Given the description of an element on the screen output the (x, y) to click on. 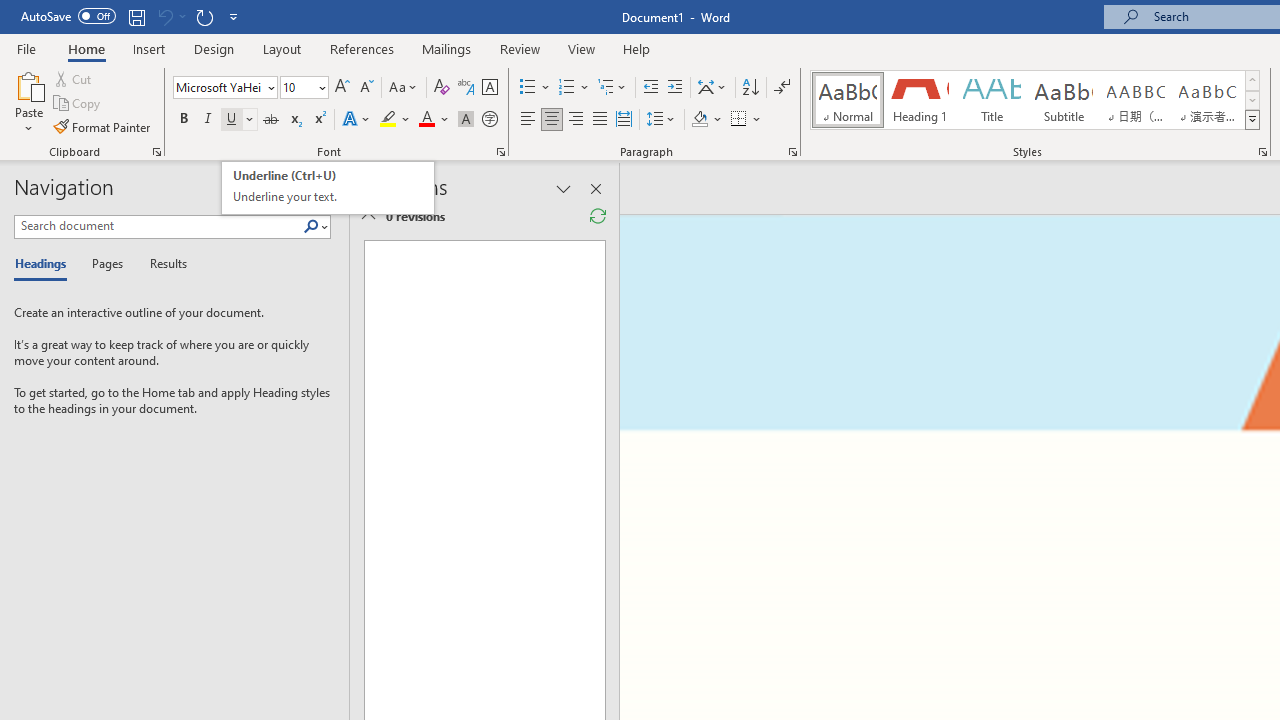
Heading 1 (920, 100)
Refresh Reviewing Pane (597, 215)
